Given the description of an element on the screen output the (x, y) to click on. 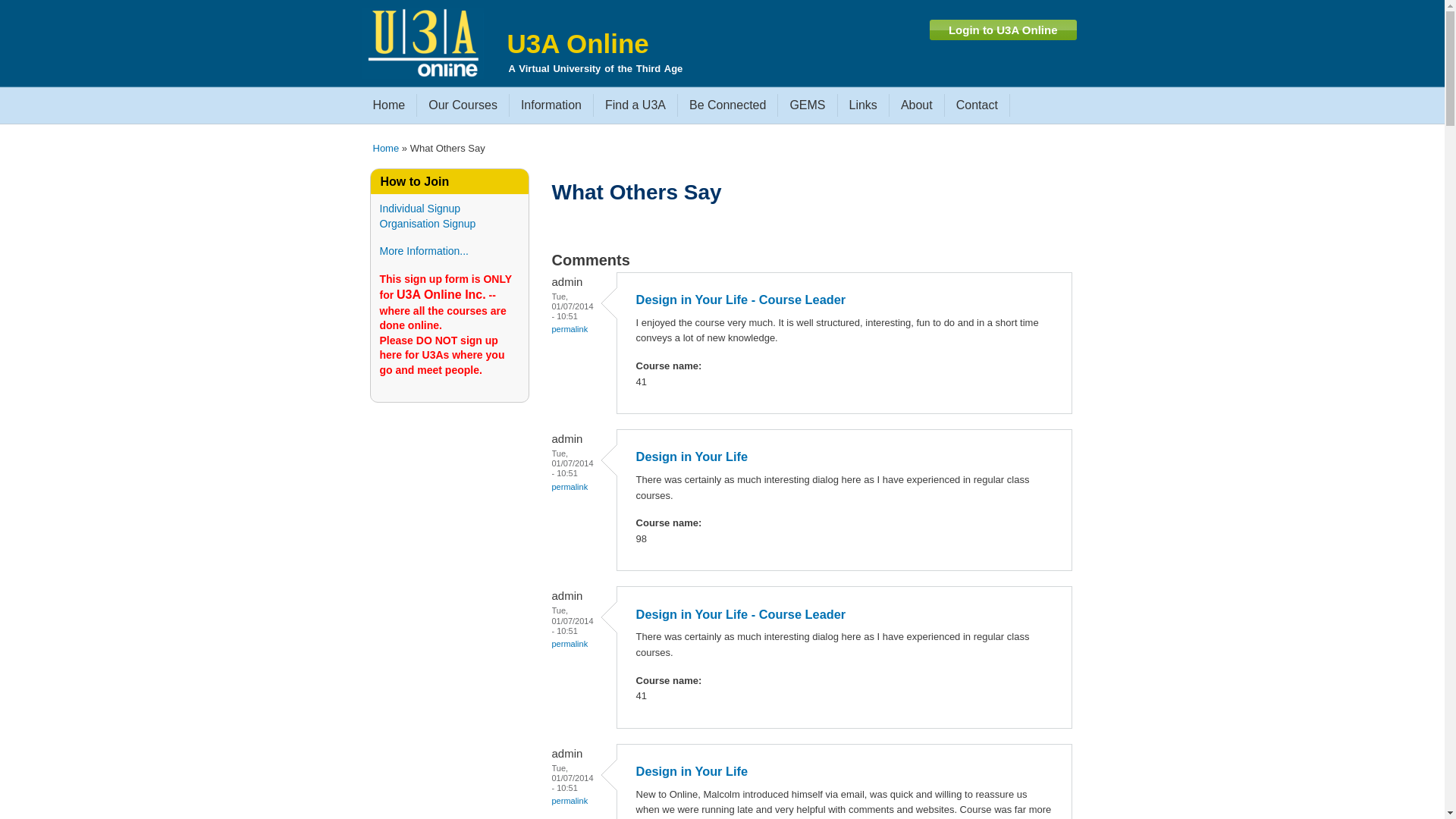
Organisation Signup Element type: text (427, 223)
Home Element type: hover (425, 44)
permalink Element type: text (570, 328)
More Information... Element type: text (423, 250)
Information Element type: text (550, 105)
Login to U3A Online Element type: text (1002, 29)
permalink Element type: text (570, 643)
Design in Your Life Element type: text (692, 771)
Individual Signup Element type: text (419, 208)
Links Element type: text (863, 105)
Find a U3A Element type: text (635, 105)
GEMS Element type: text (807, 105)
Design in Your Life - Course Leader Element type: text (741, 614)
Skip to main content Element type: text (690, 1)
permalink Element type: text (570, 800)
About Element type: text (916, 105)
Design in Your Life - Course Leader Element type: text (741, 299)
Home Element type: text (389, 105)
Be Connected Element type: text (727, 105)
Contact Element type: text (977, 105)
permalink Element type: text (570, 486)
Design in Your Life Element type: text (692, 456)
Our Courses Element type: text (462, 105)
U3A Online Element type: text (577, 43)
Home Element type: text (386, 147)
